Given the description of an element on the screen output the (x, y) to click on. 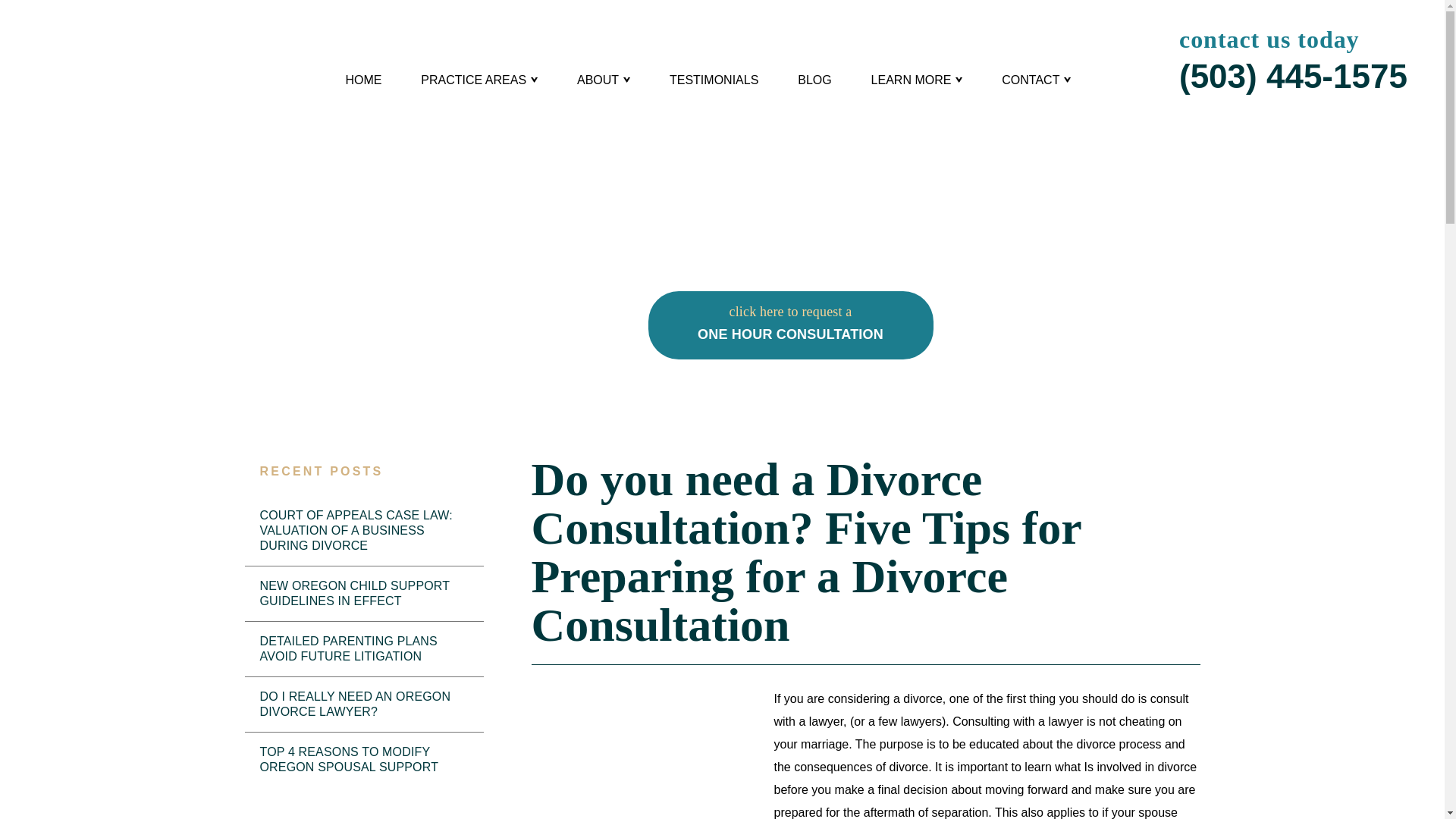
CONTACT (1035, 85)
PRACTICE AREAS (478, 85)
Brittle Family Law (158, 90)
LEARN MORE (790, 325)
ABOUT (916, 85)
TESTIMONIALS (603, 85)
